Given the description of an element on the screen output the (x, y) to click on. 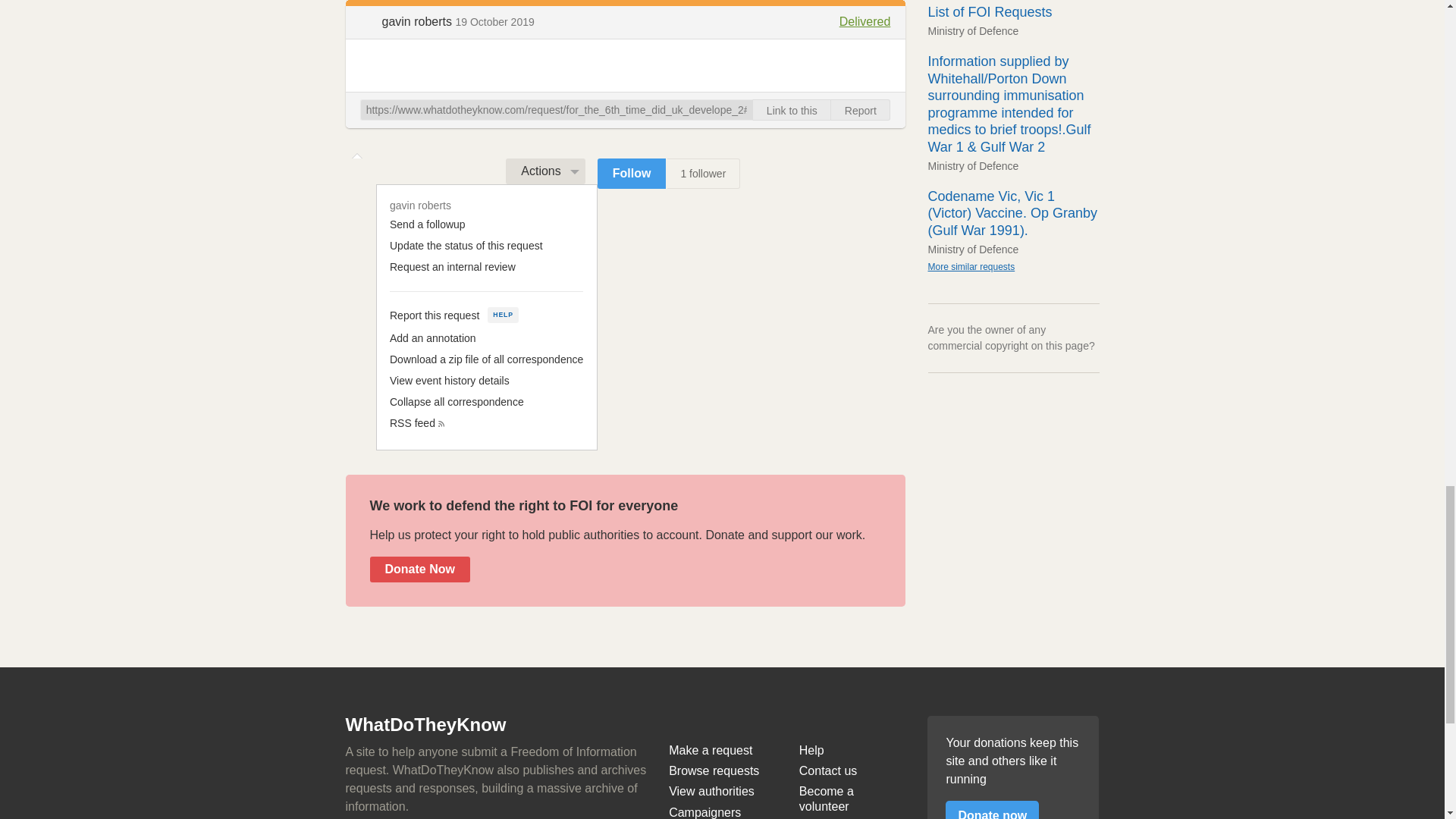
Link to this (791, 109)
Send a followup (427, 224)
Report (860, 109)
Update the status of this request (466, 245)
Actions (545, 171)
